Given the description of an element on the screen output the (x, y) to click on. 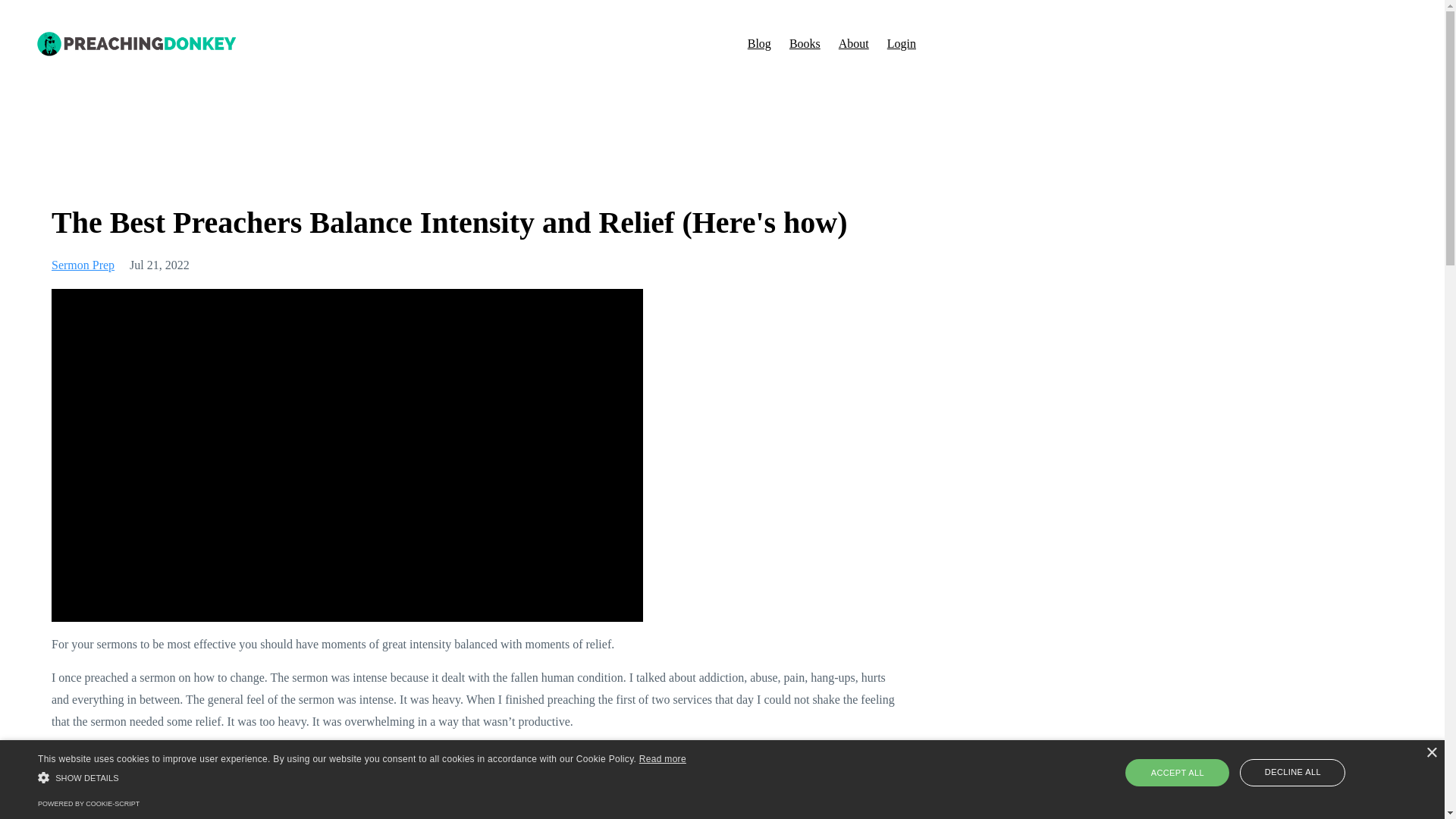
About (853, 43)
Books (805, 43)
Login (900, 43)
Read more (662, 758)
POWERED BY COOKIE-SCRIPT (88, 803)
Sermon Prep (82, 264)
